Given the description of an element on the screen output the (x, y) to click on. 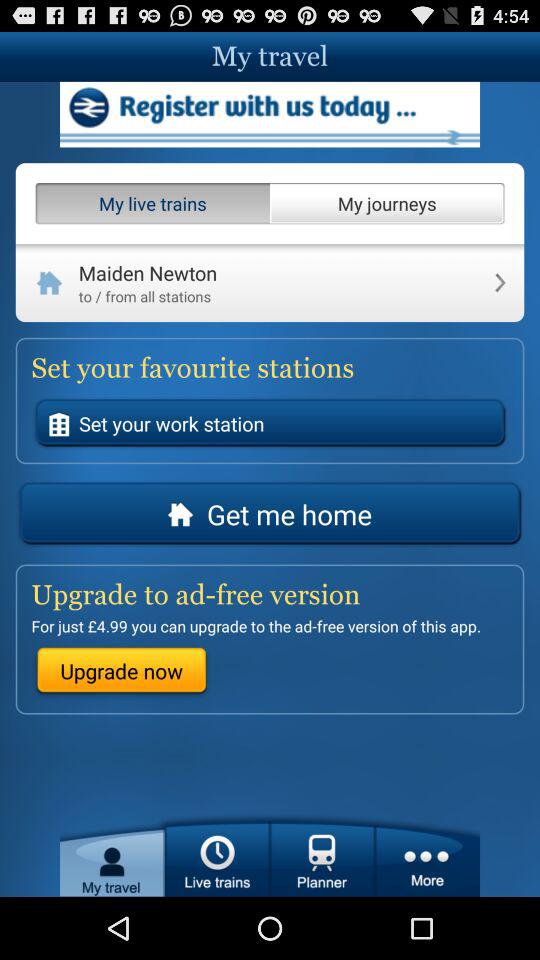
register with service (270, 114)
